Given the description of an element on the screen output the (x, y) to click on. 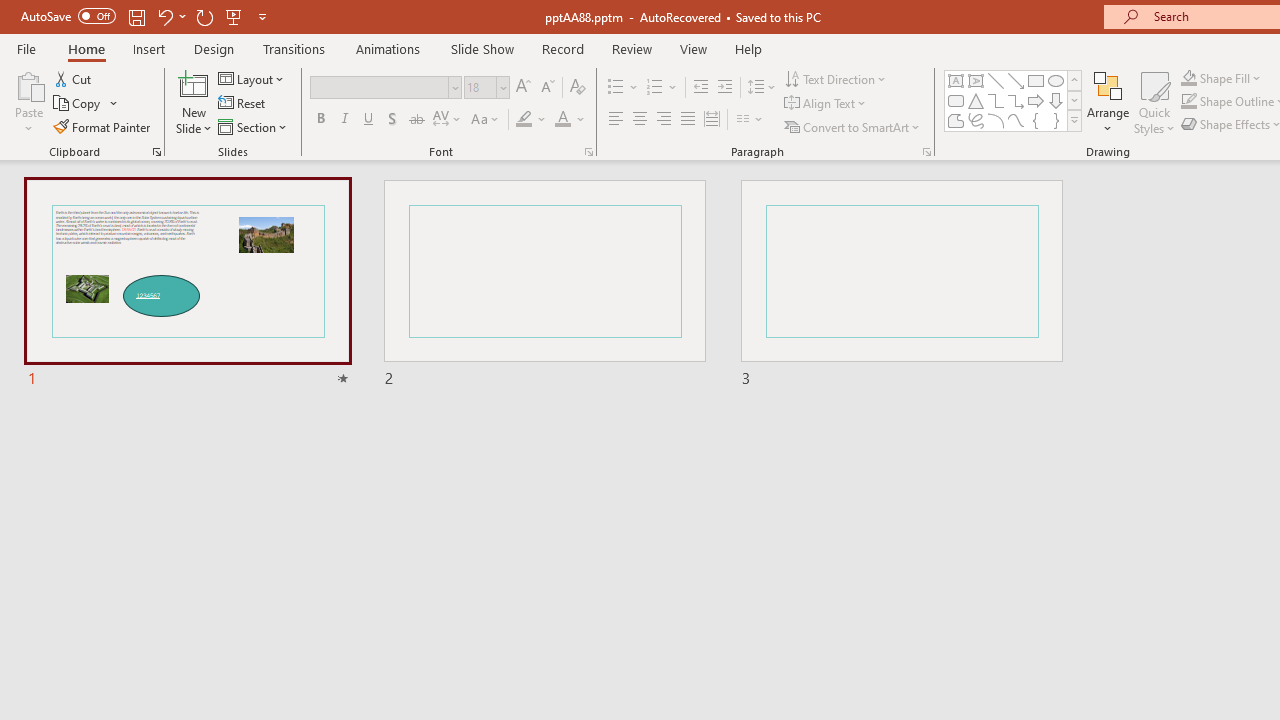
Bullets (623, 87)
Line (995, 80)
Paste (28, 84)
Arrow: Down (1055, 100)
Curve (1016, 120)
Section (254, 126)
New Slide (193, 102)
Office Clipboard... (156, 151)
Align Left (616, 119)
Shape Outline Teal, Accent 1 (1188, 101)
Arc (995, 120)
